Given the description of an element on the screen output the (x, y) to click on. 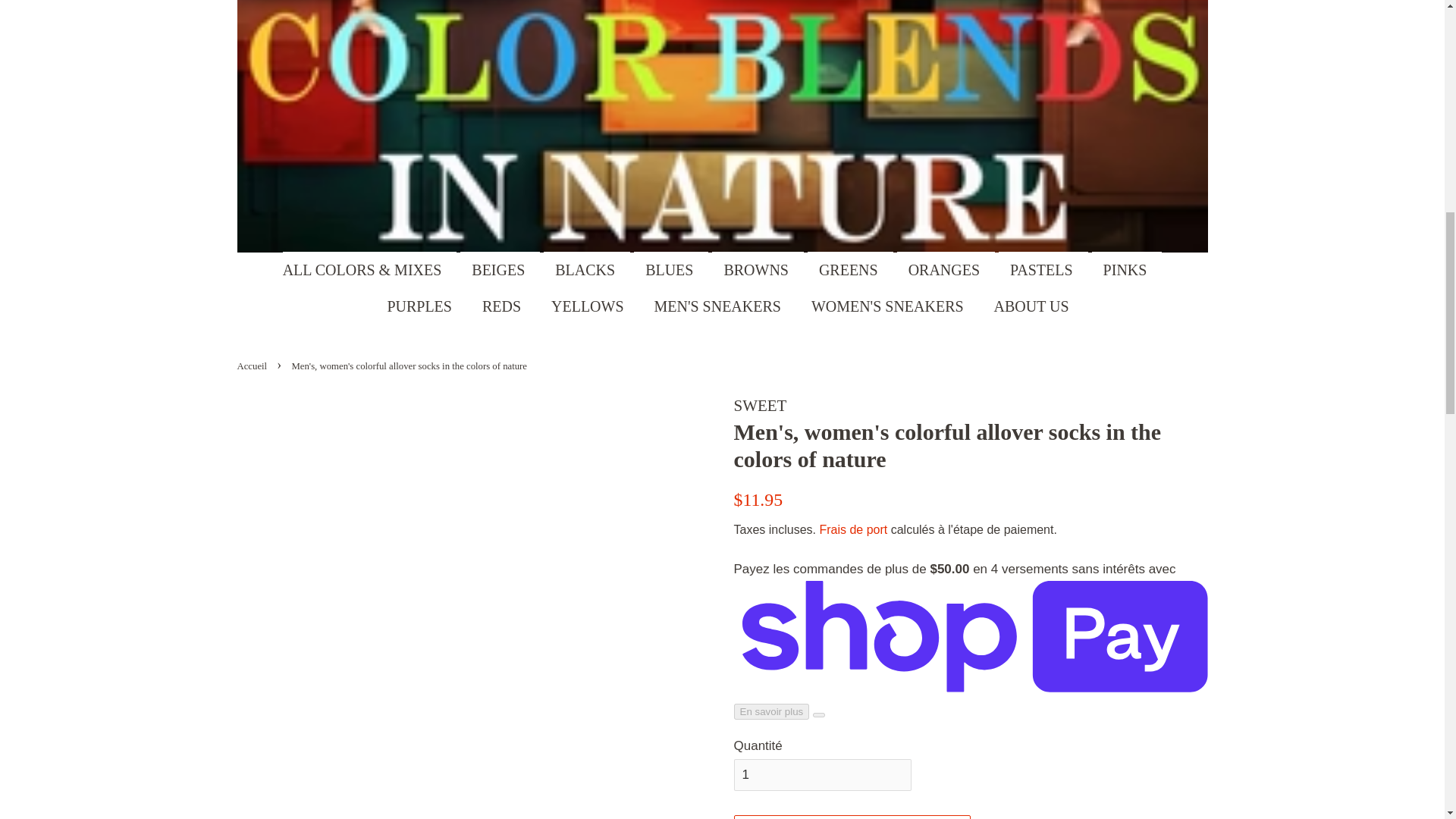
1 (822, 775)
BLUES (670, 269)
GREENS (850, 269)
ORANGES (945, 269)
BROWNS (757, 269)
MEN'S SNEAKERS (719, 306)
PASTELS (1042, 269)
PURPLES (421, 306)
YELLOWS (589, 306)
BLACKS (586, 269)
